Given the description of an element on the screen output the (x, y) to click on. 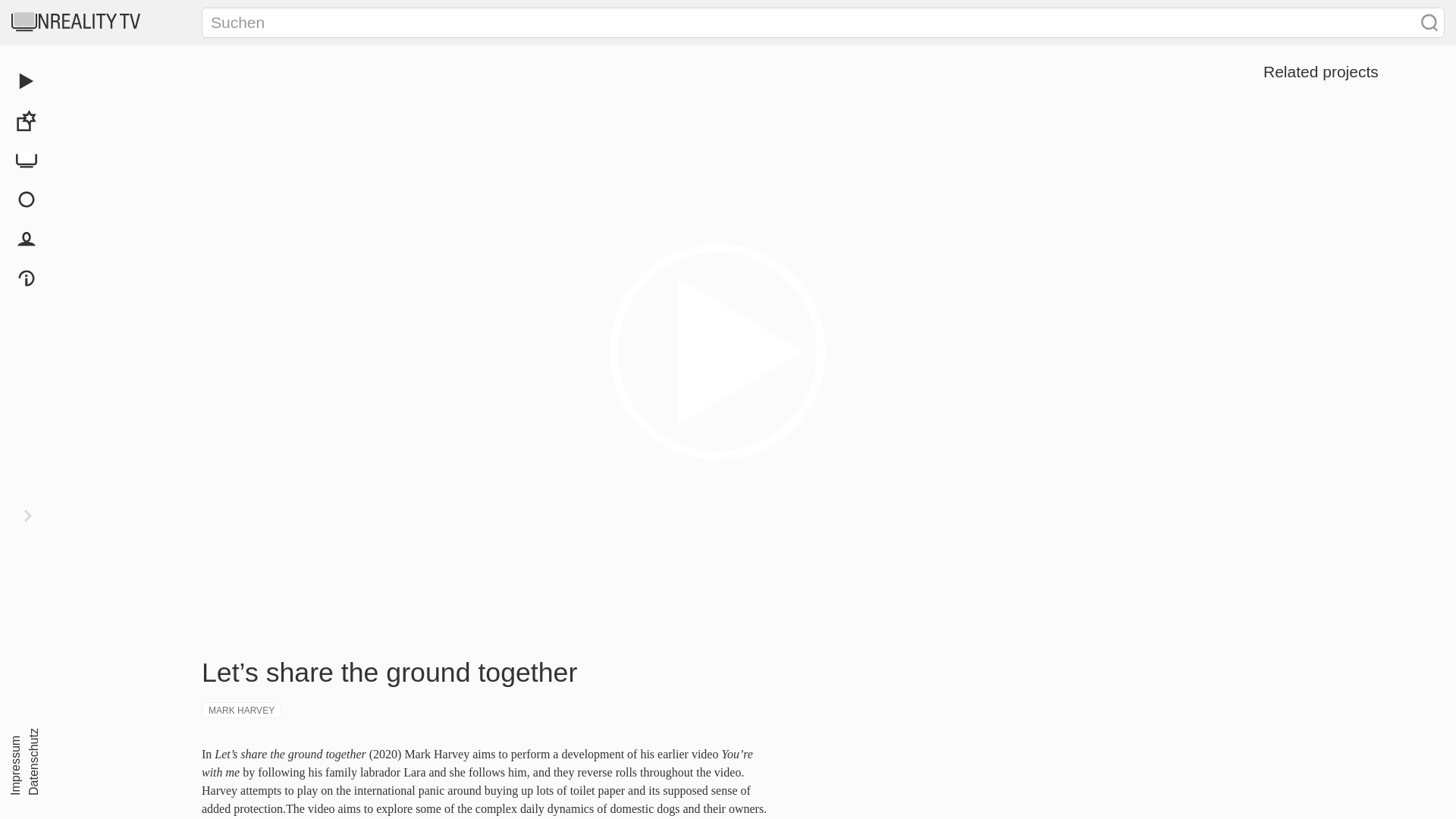
Impressum (36, 744)
Datenschutz (58, 737)
MARK HARVEY (241, 710)
